Given the description of an element on the screen output the (x, y) to click on. 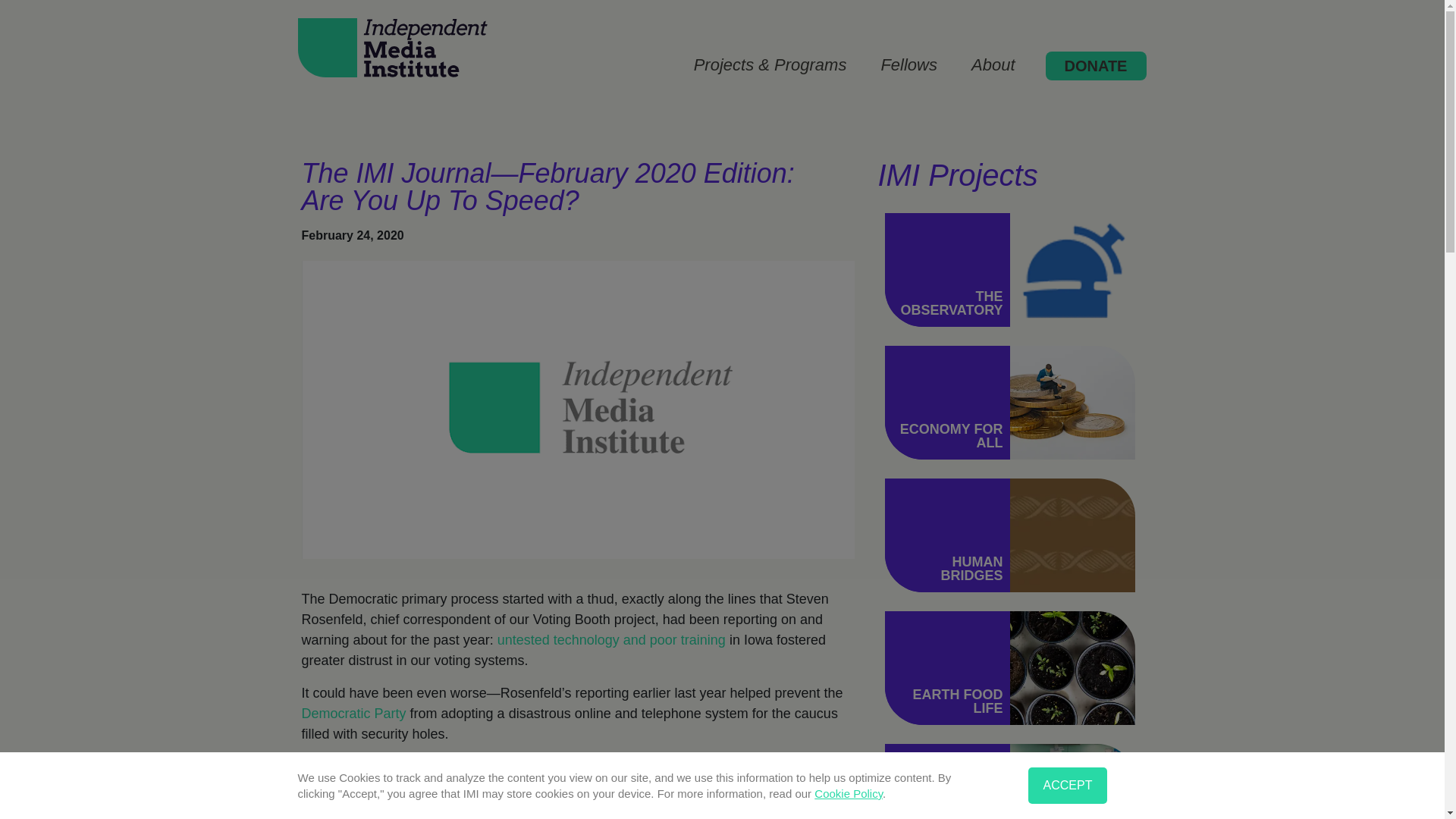
Cookie Policy (847, 793)
EARTH FOOD LIFE (957, 701)
HUMAN BRIDGES (971, 568)
About (993, 64)
THE OBSERVATORY (951, 303)
DONATE (1096, 65)
untested technology and poor training (611, 639)
ECONOMY FOR ALL (951, 435)
Democratic Party (353, 713)
Fellows (908, 64)
